Given the description of an element on the screen output the (x, y) to click on. 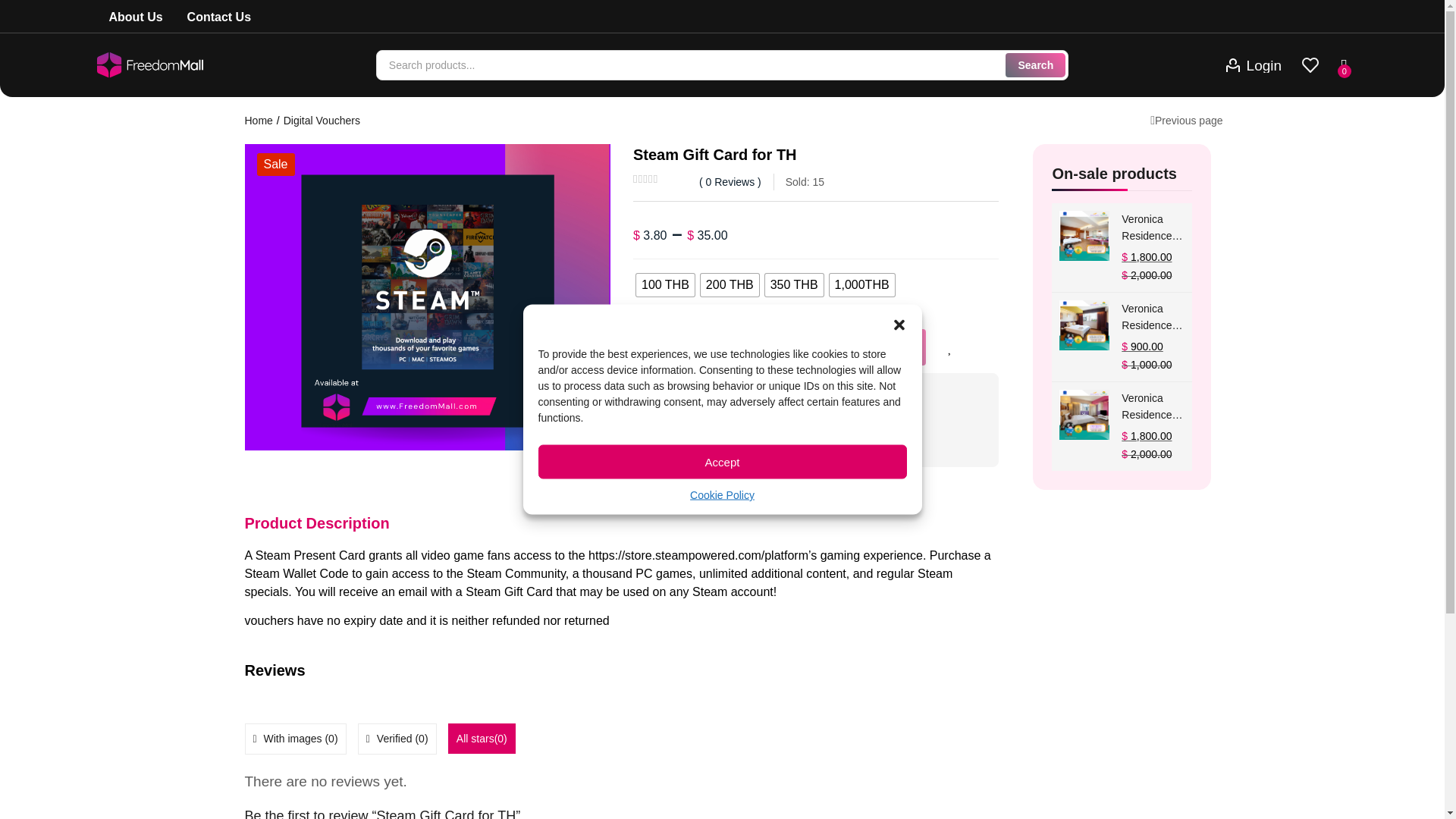
1,000THB (862, 284)
350 THB (794, 284)
1 (668, 347)
Qty (668, 347)
Accept (722, 461)
200 THB (729, 284)
100 THB (665, 284)
Cookie Policy (722, 494)
Wishlist (949, 347)
1 (427, 297)
No reviews yet! (745, 434)
